Given the description of an element on the screen output the (x, y) to click on. 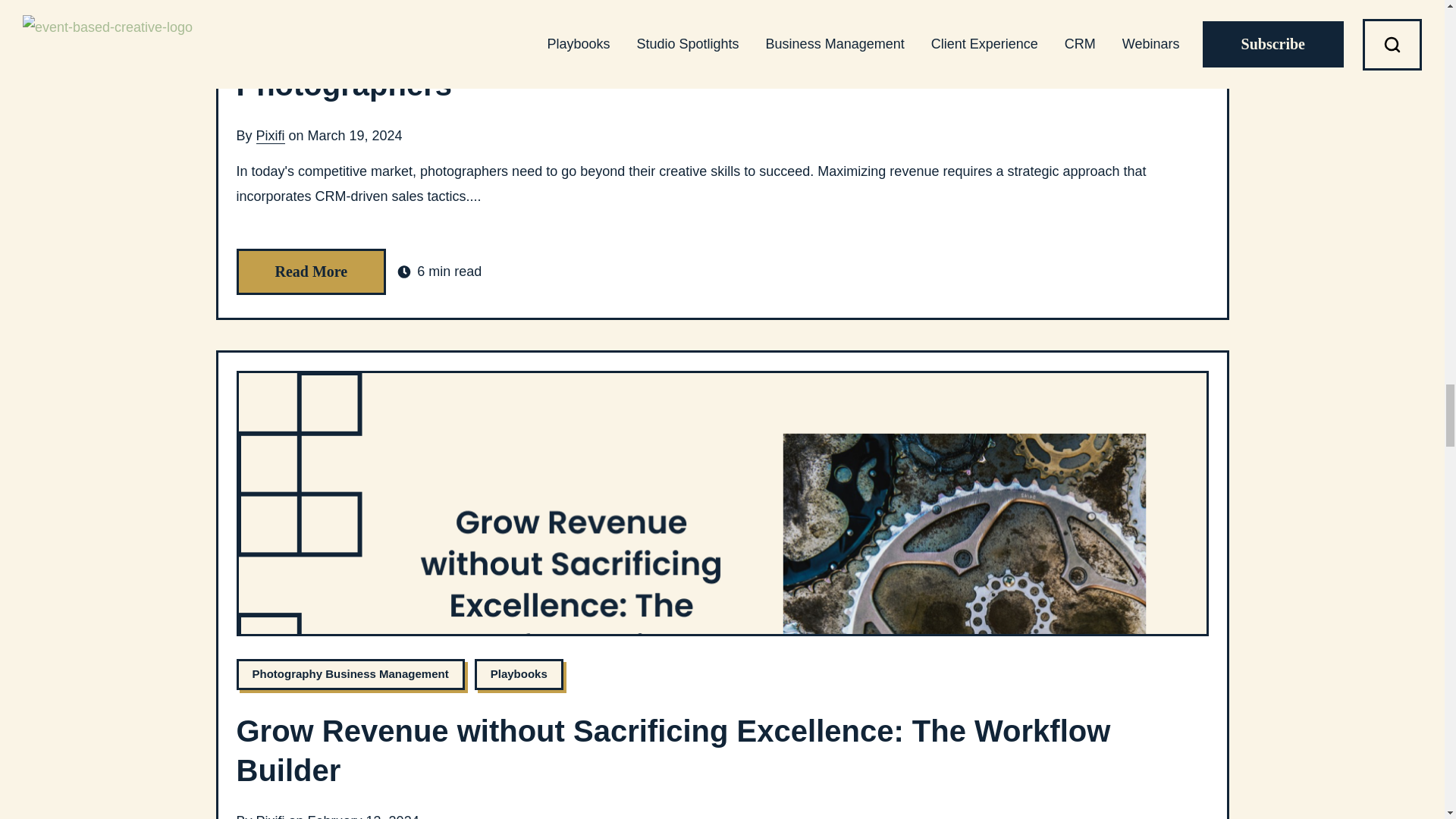
Pixifi (270, 816)
Photography Business Management (349, 674)
Photographer CRM (303, 2)
Read More (311, 271)
Playbooks (518, 674)
Pixifi (270, 135)
